Given the description of an element on the screen output the (x, y) to click on. 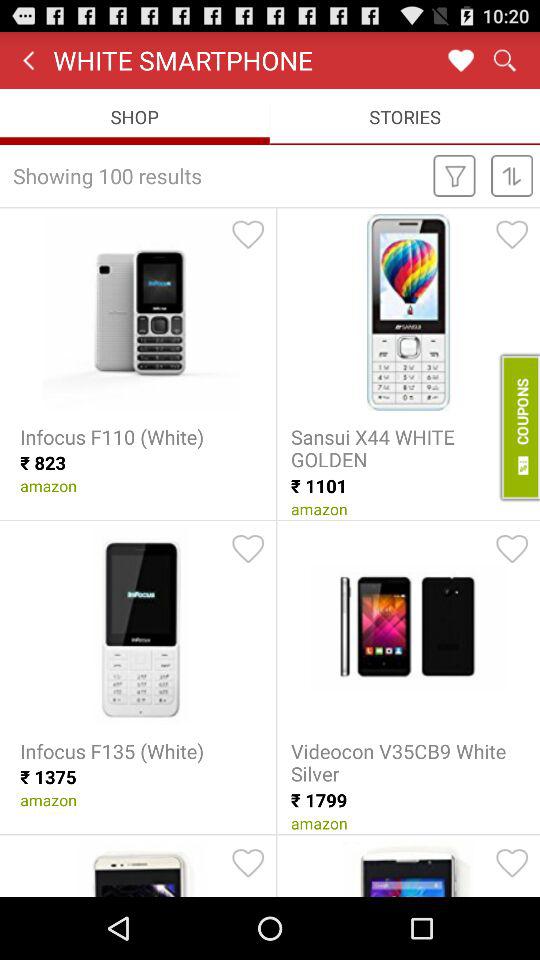
add to favorite (512, 863)
